Given the description of an element on the screen output the (x, y) to click on. 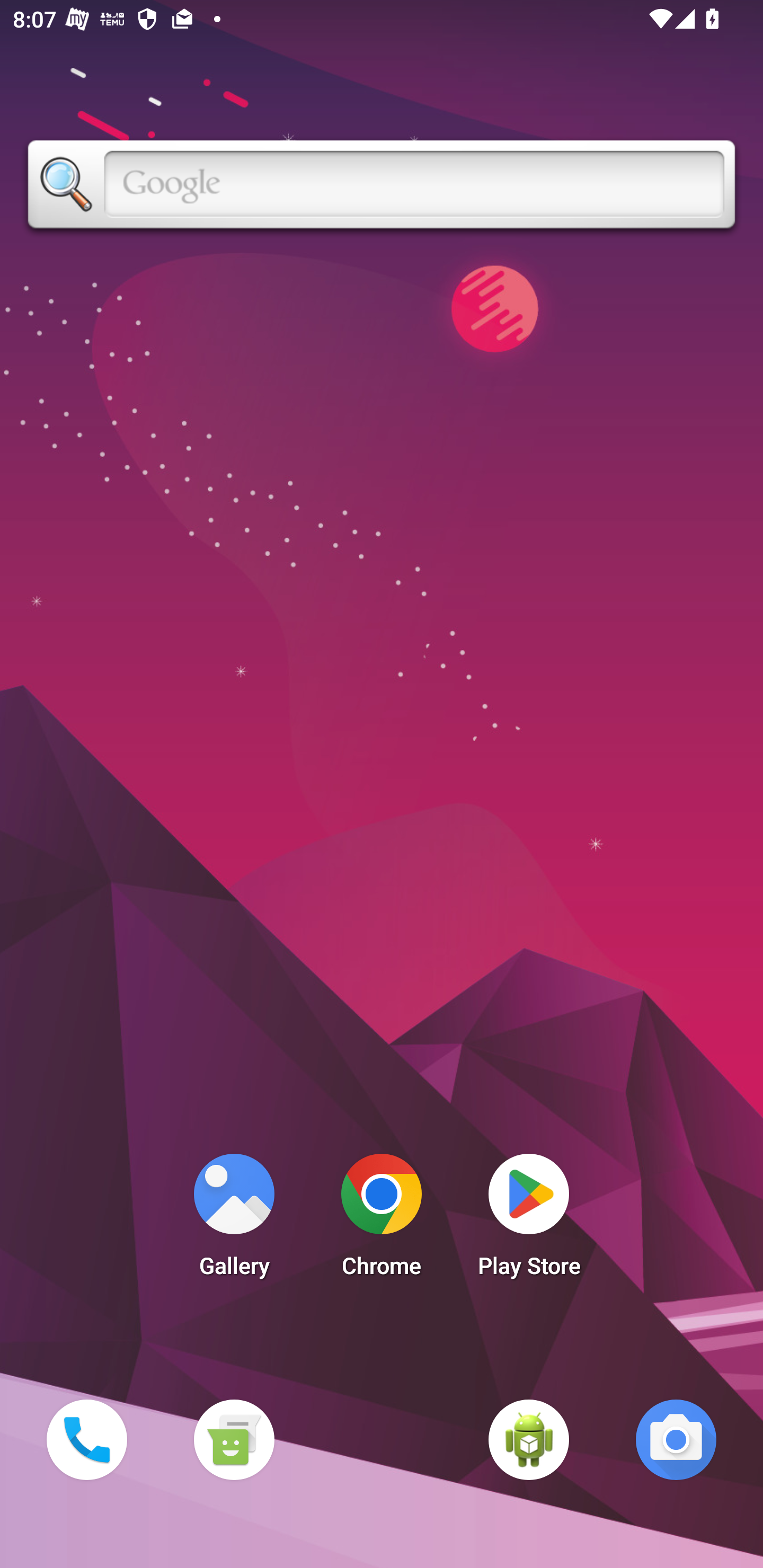
Gallery (233, 1220)
Chrome (381, 1220)
Play Store (528, 1220)
Phone (86, 1439)
Messaging (233, 1439)
WebView Browser Tester (528, 1439)
Camera (676, 1439)
